Given the description of an element on the screen output the (x, y) to click on. 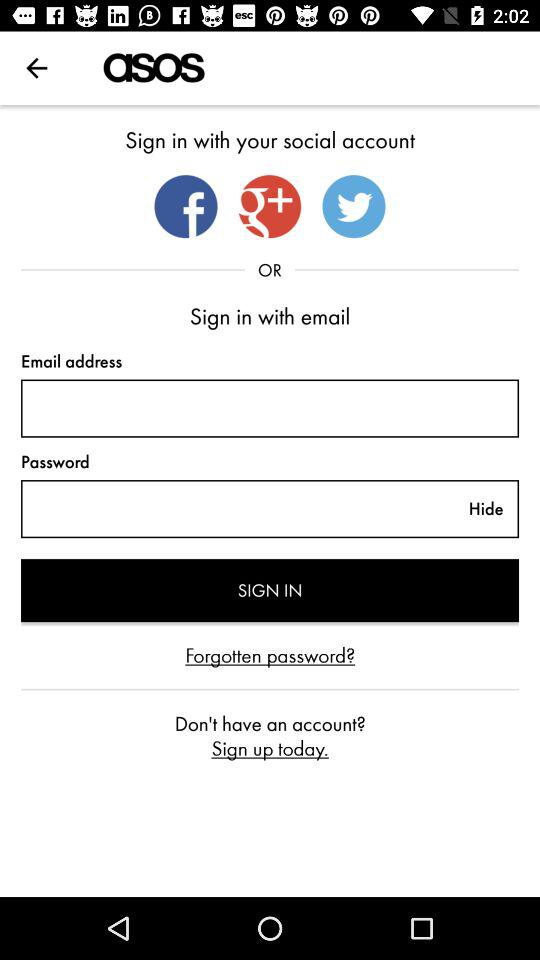
twitter page (353, 206)
